Given the description of an element on the screen output the (x, y) to click on. 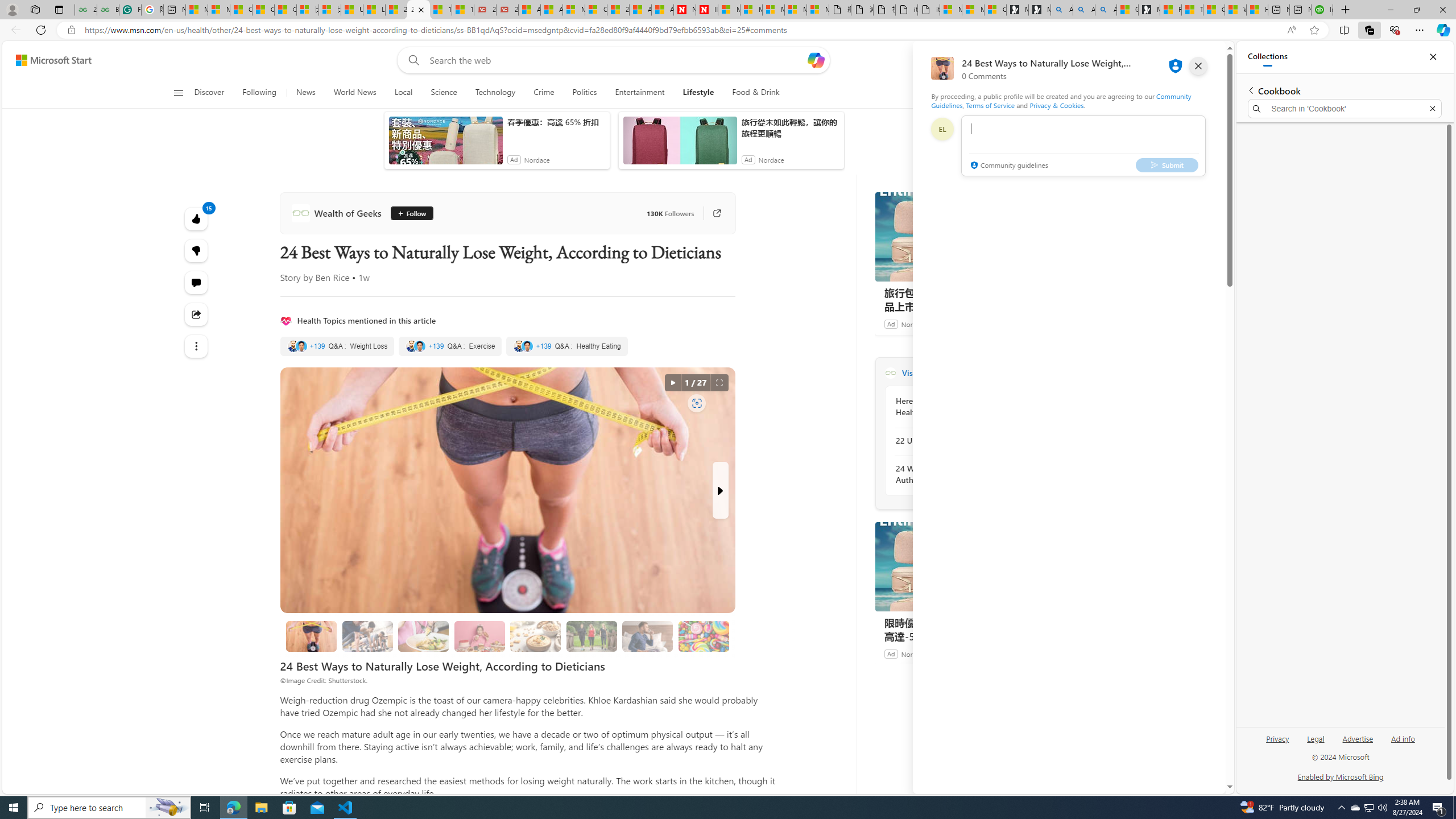
3. Portion Control (479, 635)
2. Reduce Your Plate Size (423, 635)
Enter your search term (617, 59)
close (1198, 65)
Weight Loss (336, 346)
Class: at-item (196, 345)
CNN - MSN (1214, 9)
Submit (1166, 164)
